Given the description of an element on the screen output the (x, y) to click on. 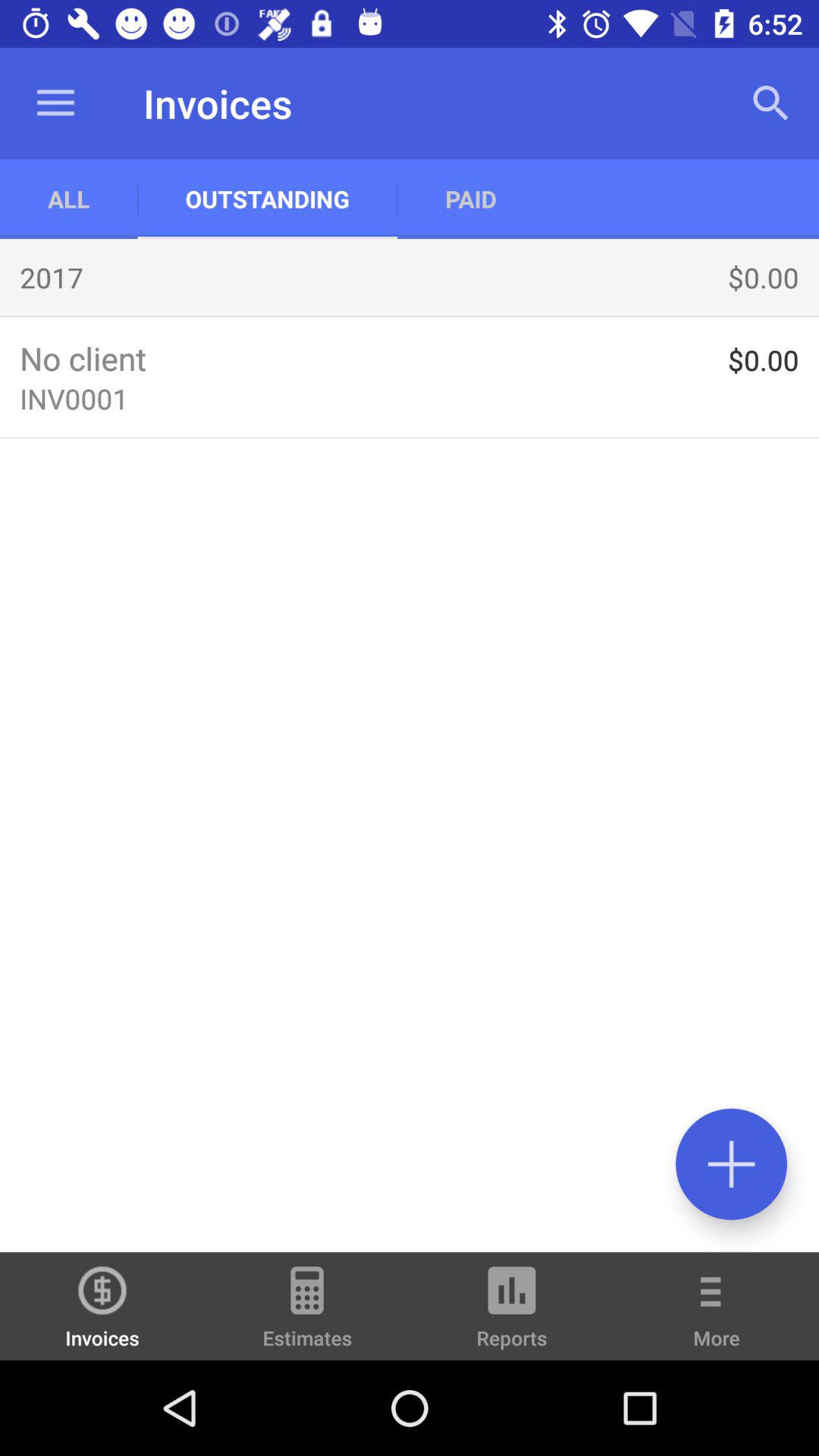
flip to more icon (716, 1317)
